Given the description of an element on the screen output the (x, y) to click on. 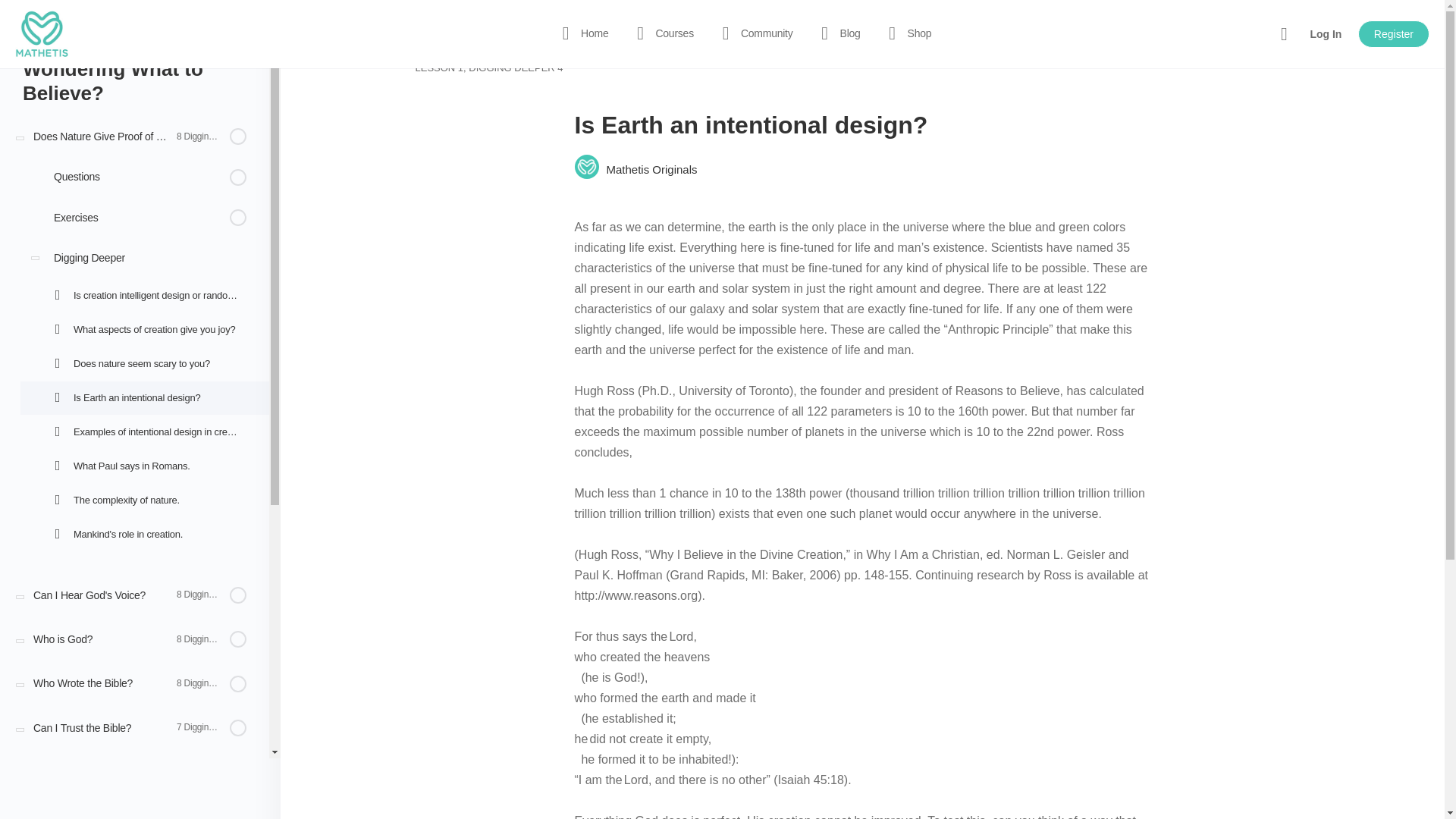
Does Nature Give Proof of God? (134, 136)
Log In (1325, 33)
Register (1393, 33)
Mankind's role in creation. (144, 534)
Examples of intentional design in creation. (144, 431)
Is creation intelligent design or random chaos? (144, 295)
Can I Hear God's Voice? (134, 595)
Courses (661, 33)
Digging Deeper (144, 257)
Back to Course (70, 34)
